Given the description of an element on the screen output the (x, y) to click on. 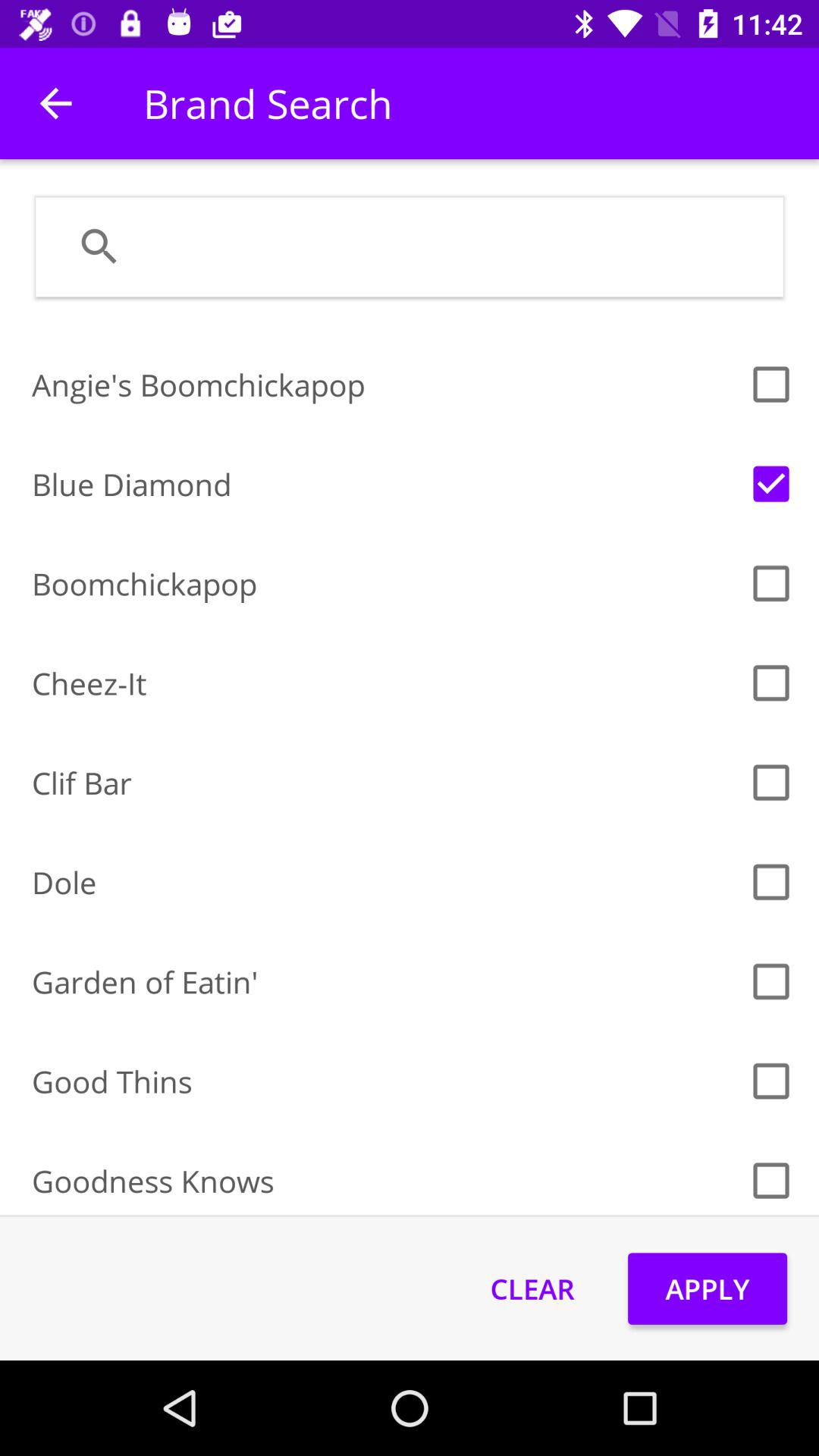
launch the clif bar (385, 782)
